Given the description of an element on the screen output the (x, y) to click on. 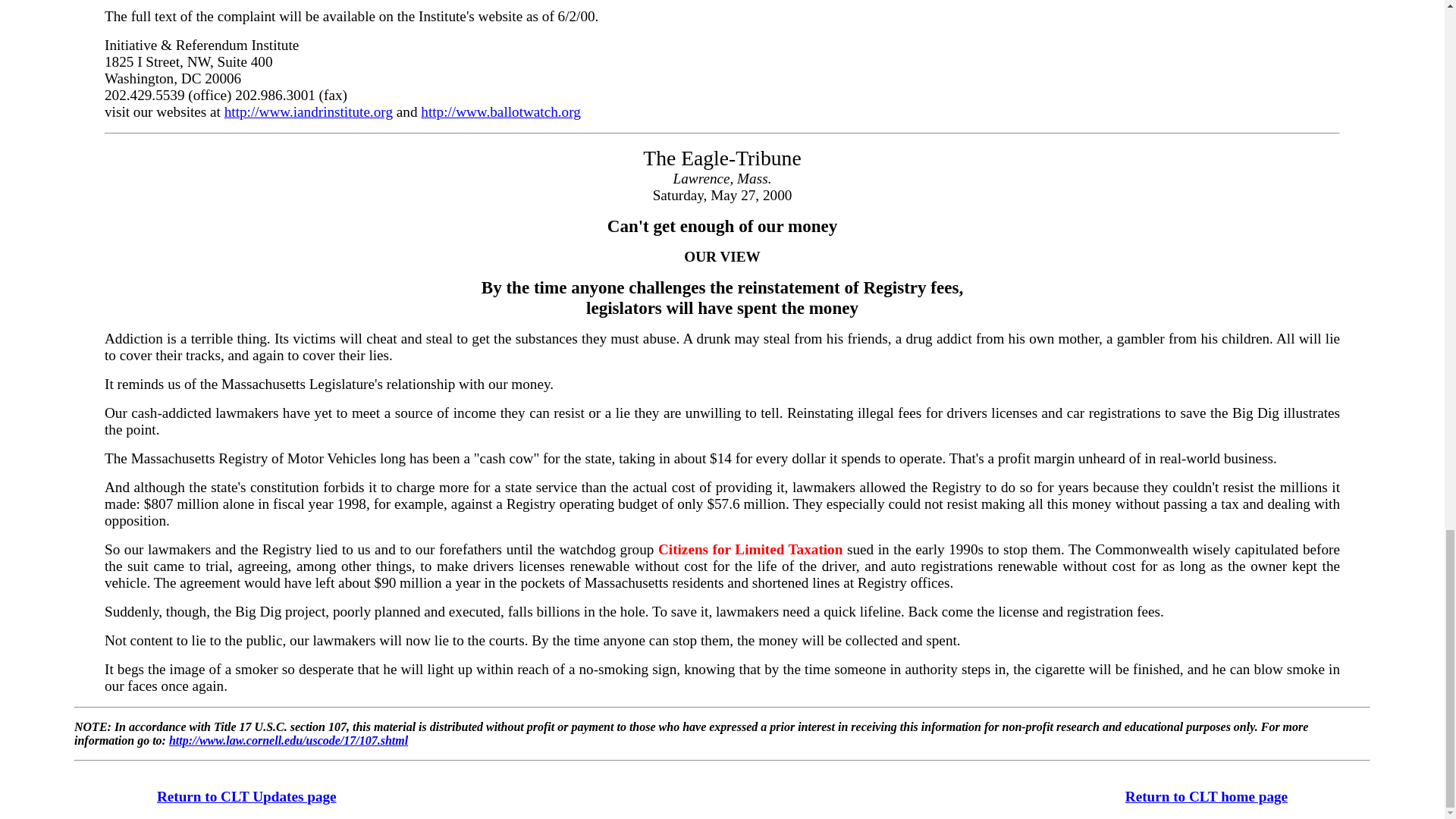
Return to CLT home page (1206, 797)
Return to CLT Updates page (246, 797)
